Given the description of an element on the screen output the (x, y) to click on. 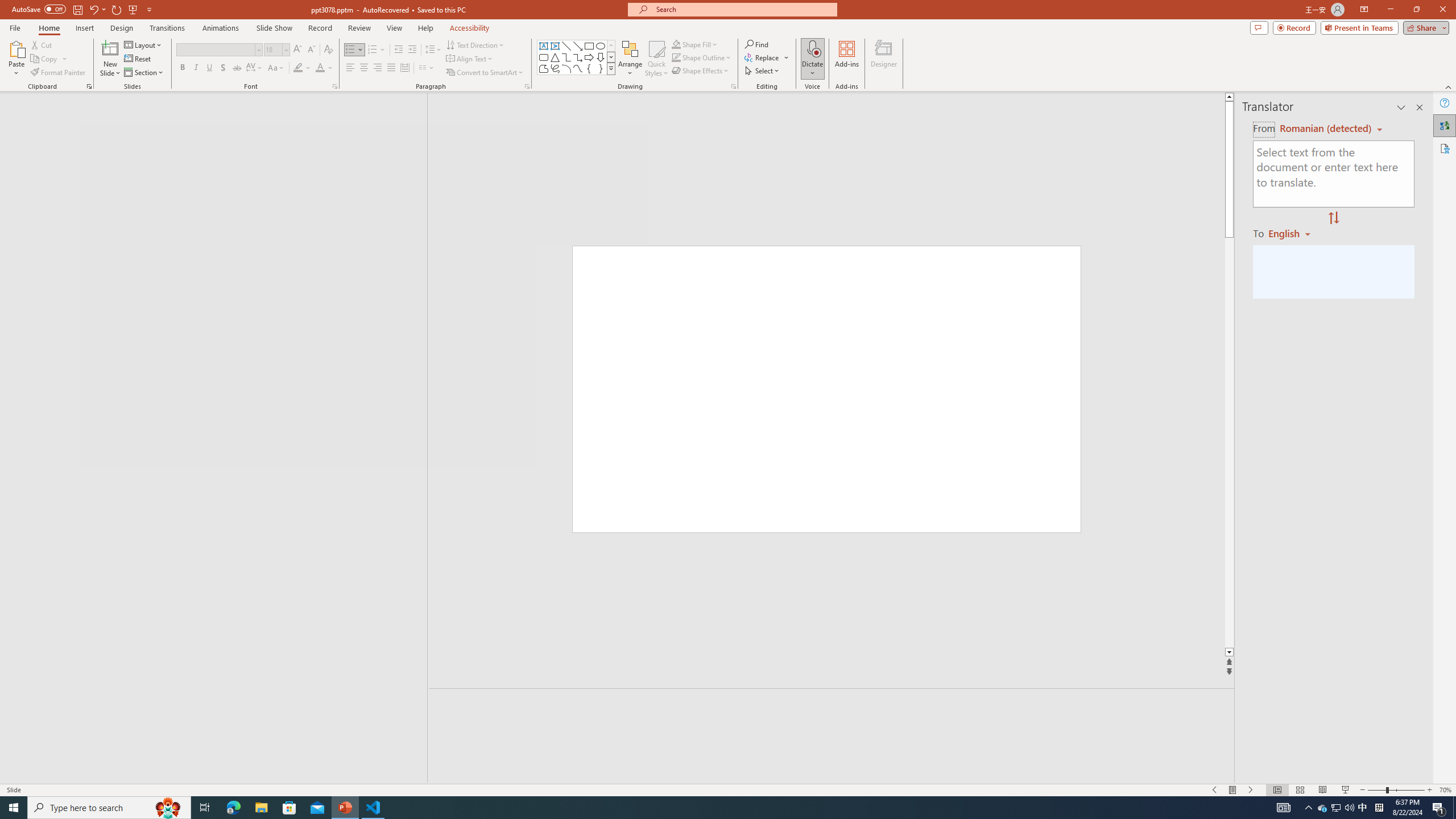
Swap "from" and "to" languages. (1333, 218)
Class: NetUIImage (610, 68)
Shape Effects (700, 69)
Font Color (324, 67)
Numbering (372, 49)
Accessibility (1444, 147)
Increase Font Size (297, 49)
Row Down (611, 56)
Isosceles Triangle (554, 57)
